Given the description of an element on the screen output the (x, y) to click on. 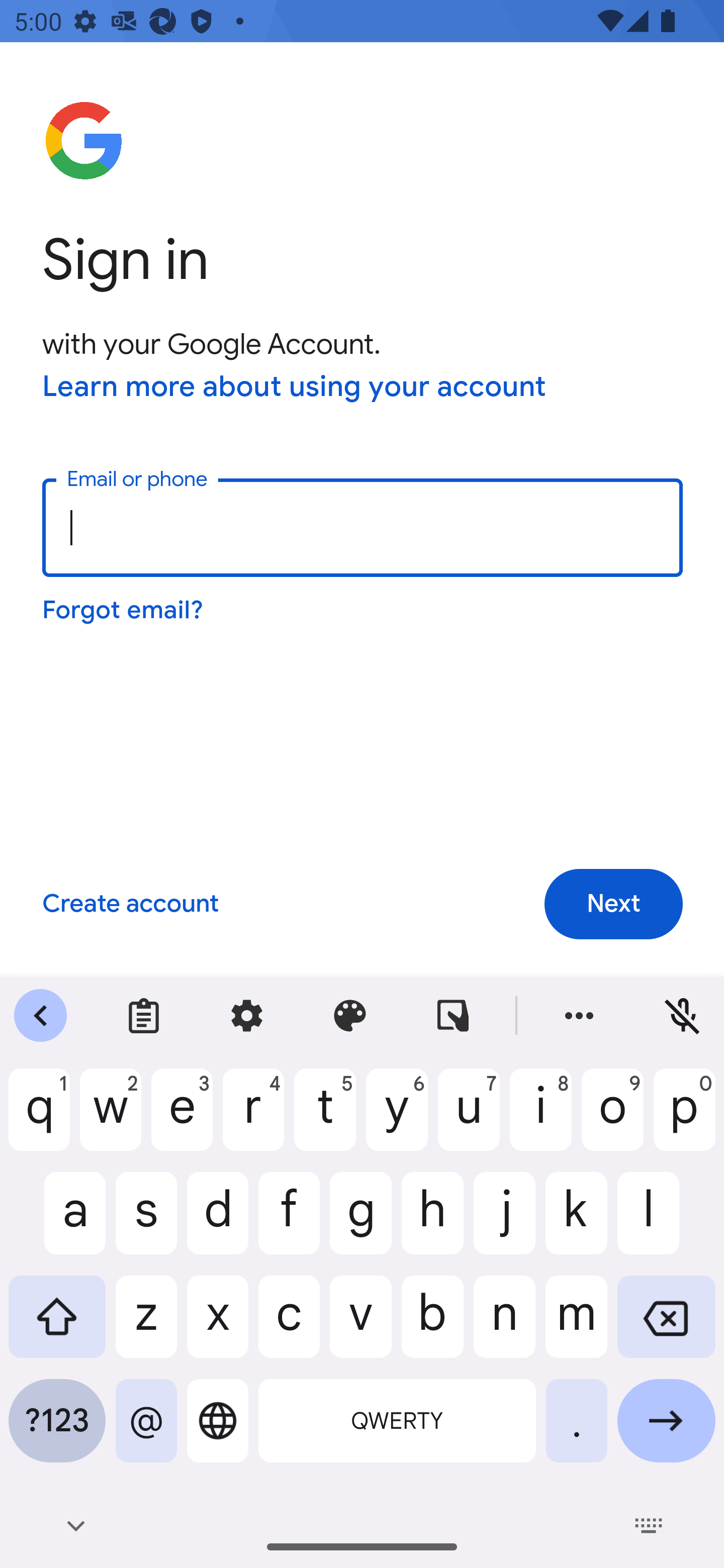
Learn more about using your account (294, 388)
Forgot email? (123, 609)
Next (613, 903)
Create account (129, 904)
